Given the description of an element on the screen output the (x, y) to click on. 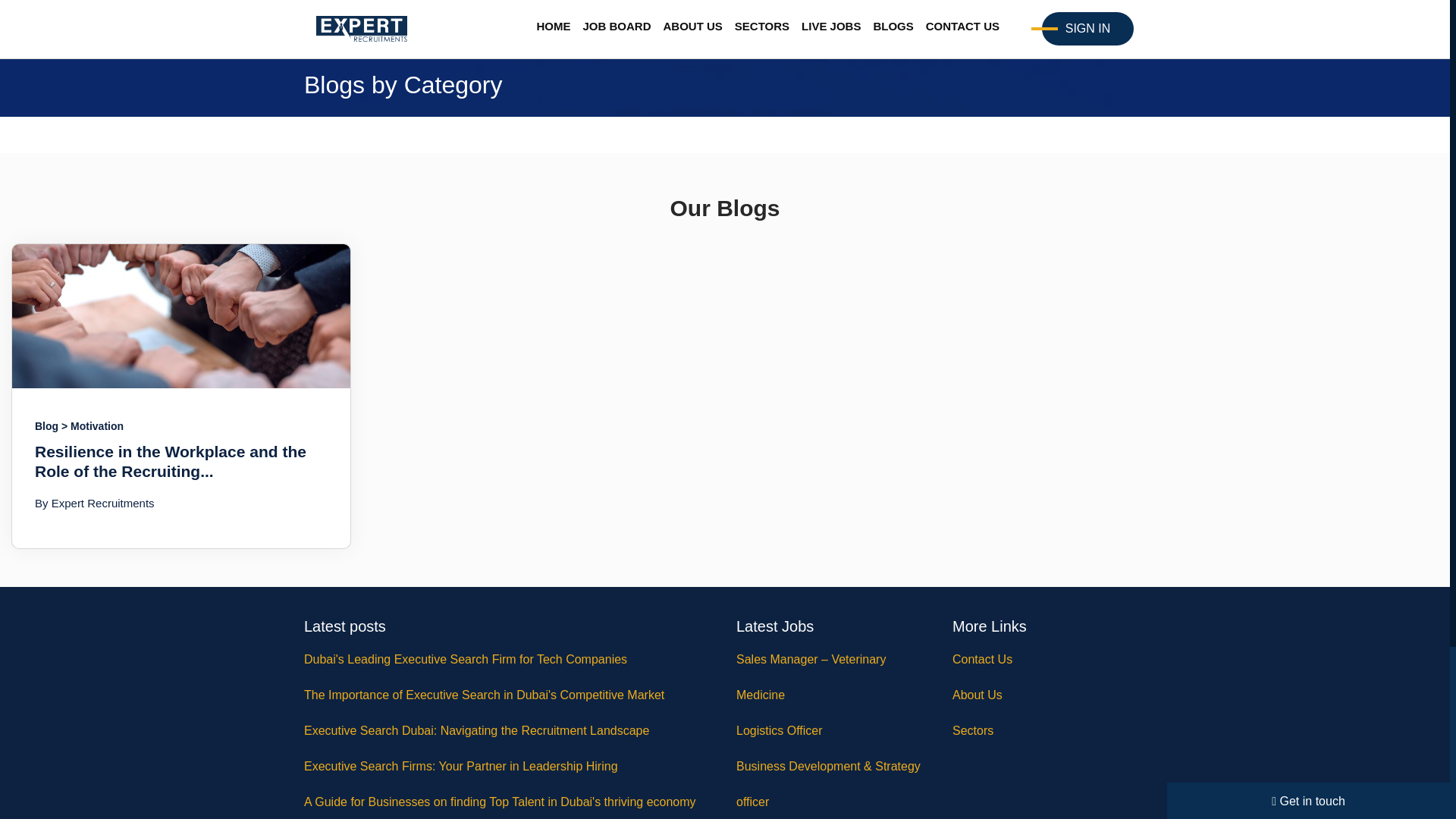
SIGN IN (1087, 28)
Dubai's Leading Executive Search Firm for Tech Companies (508, 659)
About Us (1048, 694)
ABOUT US (692, 26)
CONTACT US (963, 26)
Logistics Officer (833, 730)
SECTORS (761, 26)
